Given the description of an element on the screen output the (x, y) to click on. 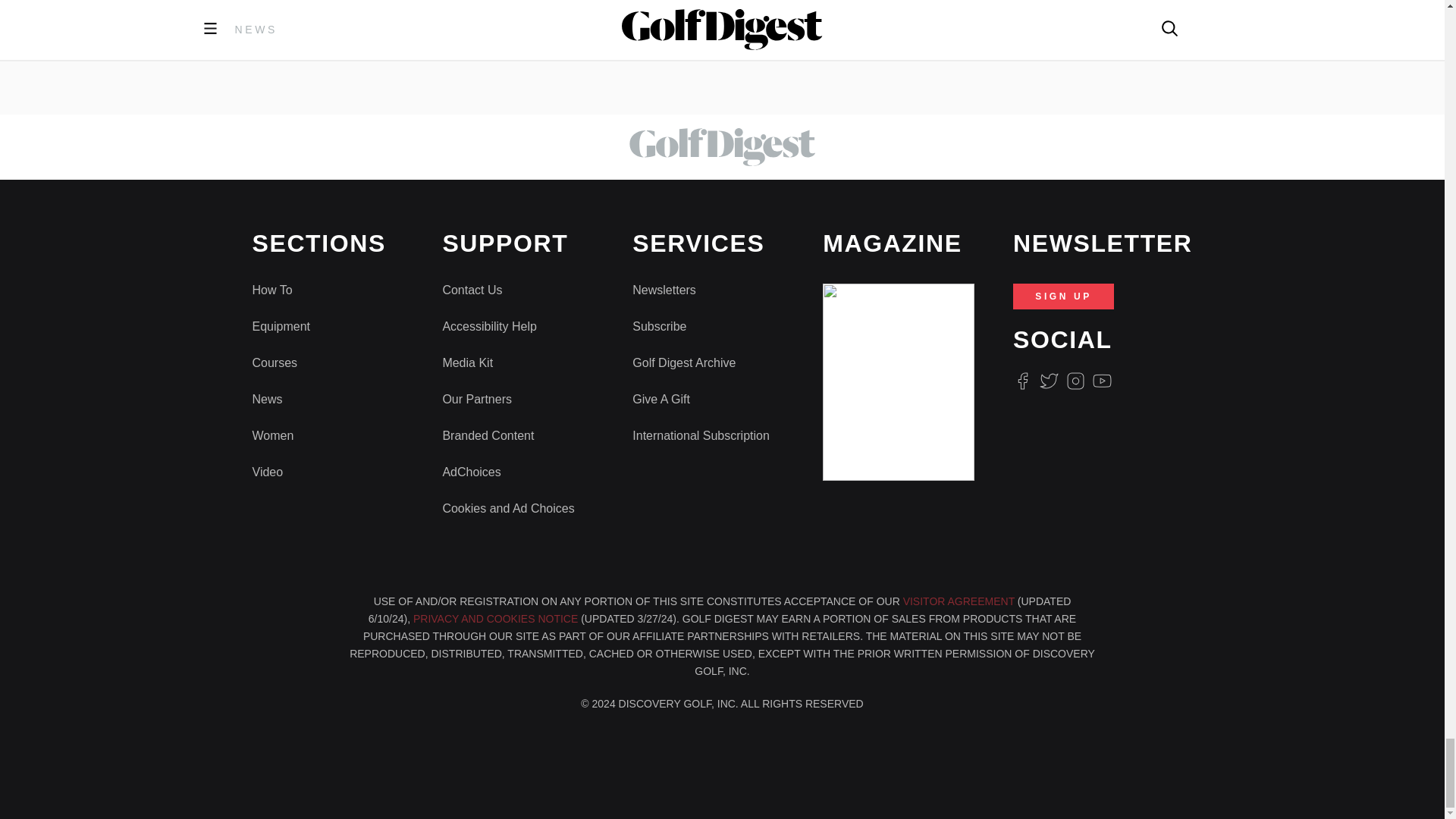
Youtube Icon (1102, 380)
Instagram Logo (1074, 380)
Twitter Logo (1048, 380)
Facebook Logo (1022, 380)
